Given the description of an element on the screen output the (x, y) to click on. 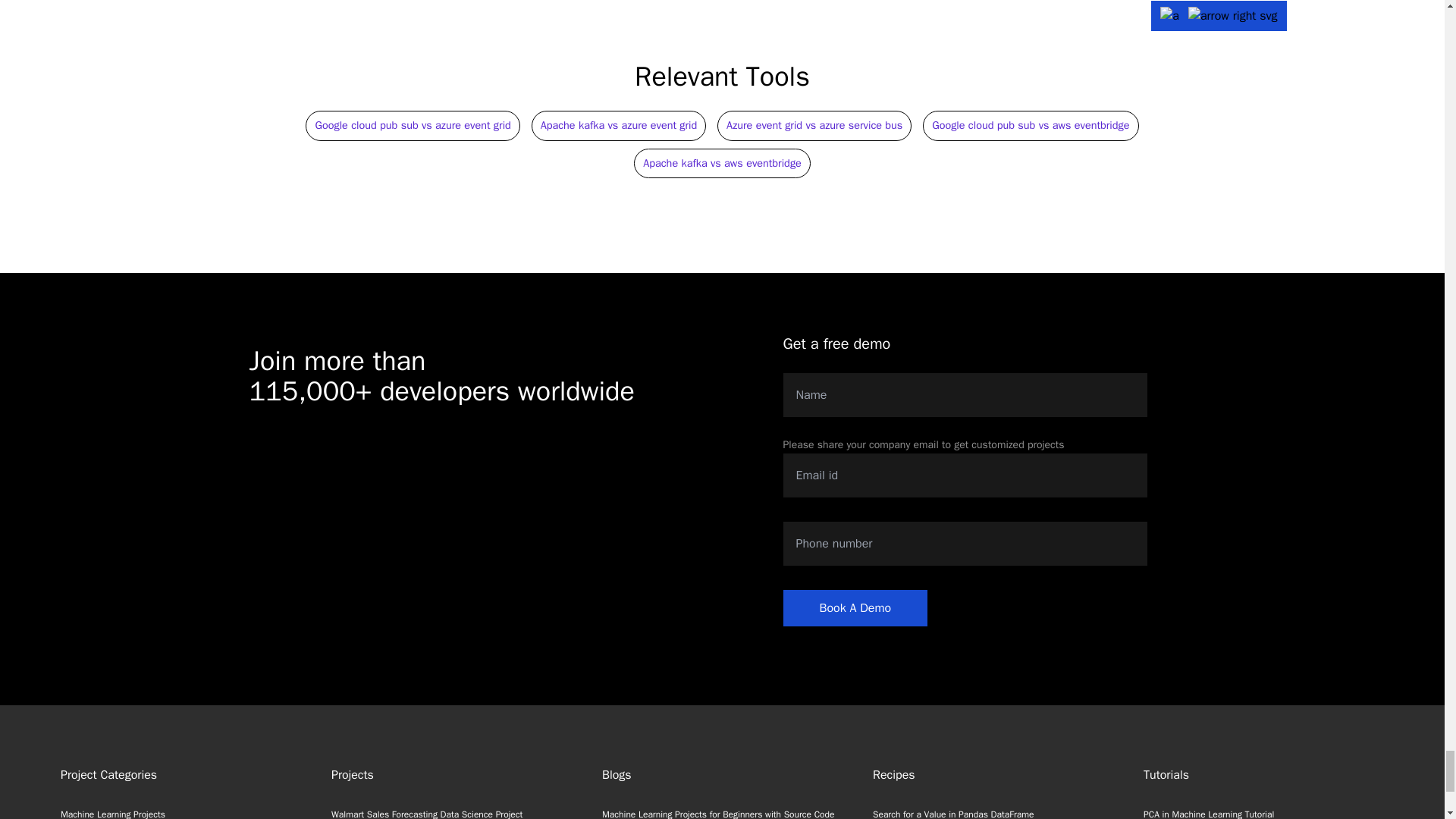
google-cloud-pub-sub-vs-azure-event-grid (411, 124)
